Given the description of an element on the screen output the (x, y) to click on. 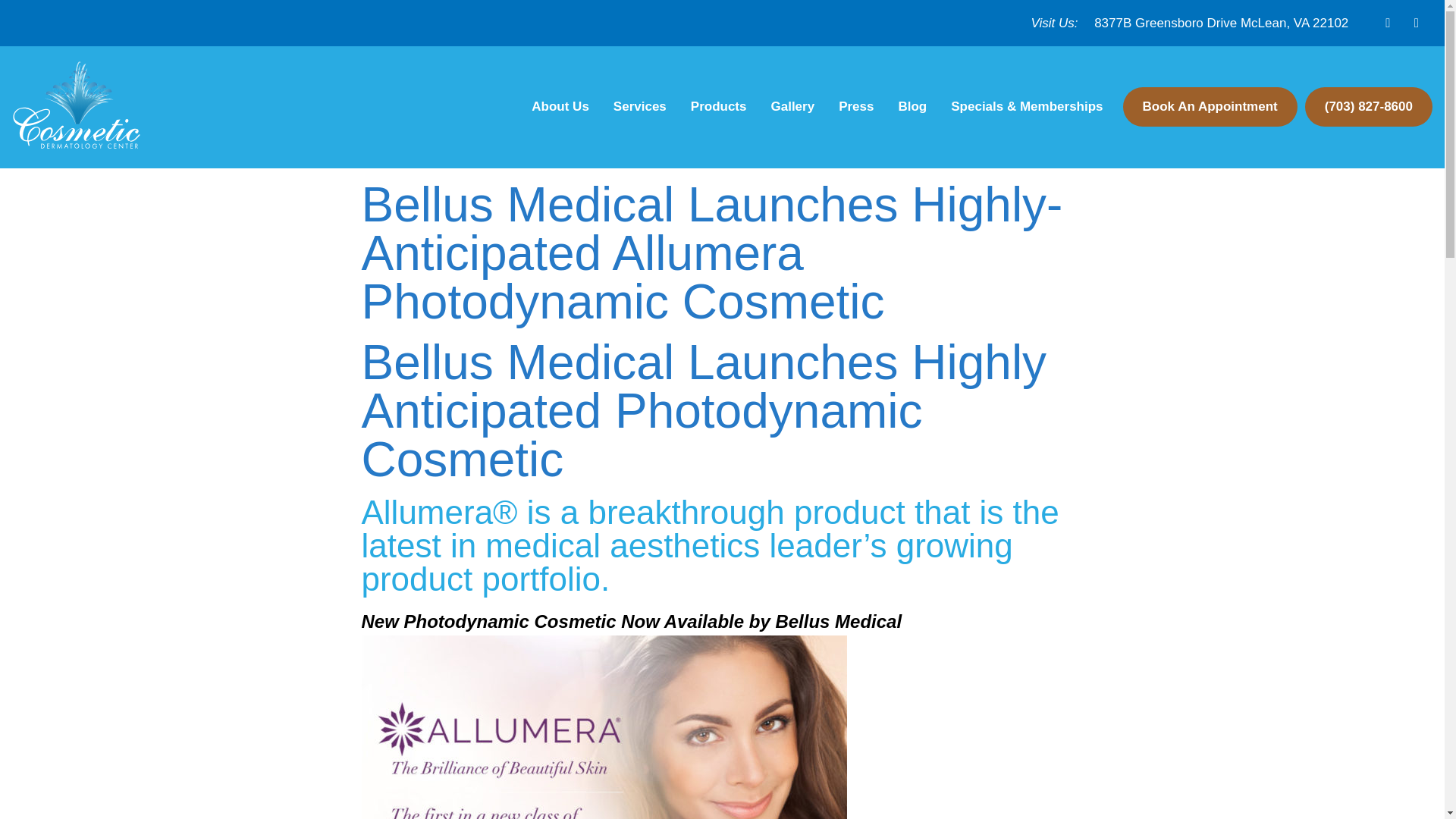
Services (639, 106)
About Us (560, 106)
Visit Us: (1054, 23)
8377B Greensboro Drive McLean, VA 22102 (1221, 23)
